Given the description of an element on the screen output the (x, y) to click on. 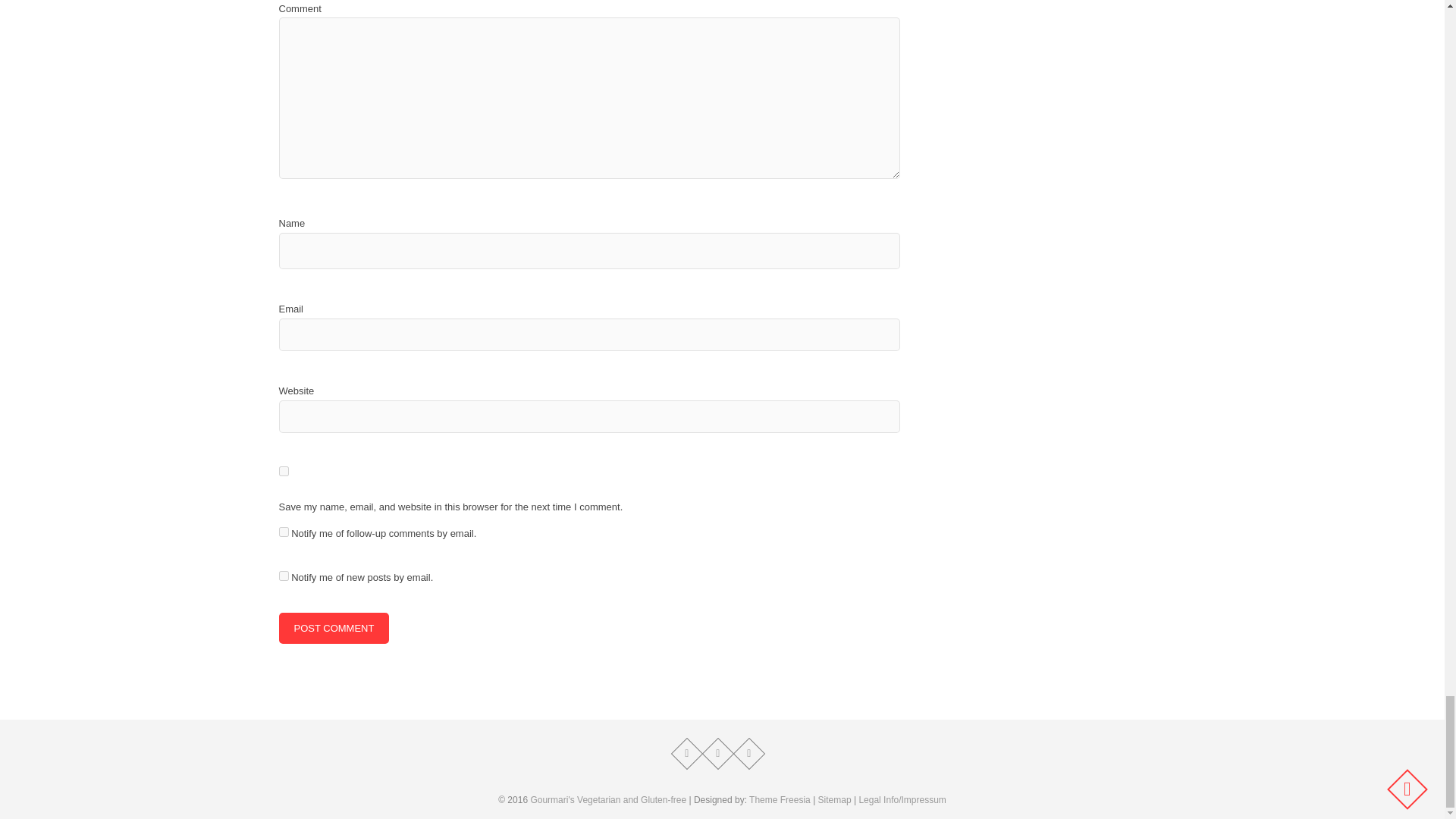
subscribe (283, 532)
Theme Freesia (779, 799)
Post Comment (334, 627)
yes (283, 470)
subscribe (283, 575)
Gourmari - Vegetarian and Gluten-free (607, 799)
